Given the description of an element on the screen output the (x, y) to click on. 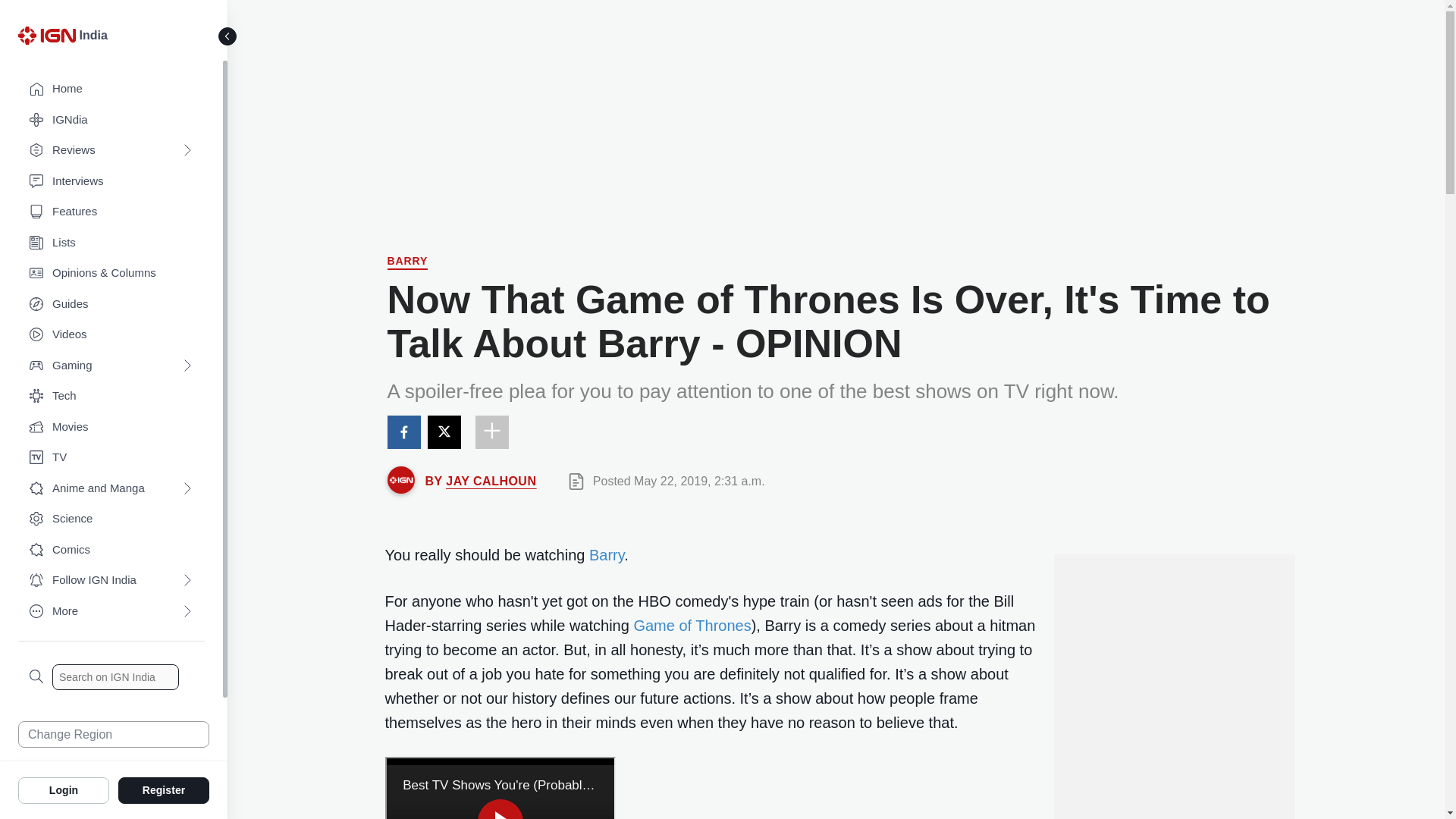
Lists (111, 242)
Videos (111, 334)
Features (111, 211)
Reviews (111, 150)
IGN Logo (46, 34)
Follow IGN India (111, 580)
Anime and Manga (111, 487)
Interviews (111, 181)
IGN Logo (48, 39)
Tech (111, 396)
